Given the description of an element on the screen output the (x, y) to click on. 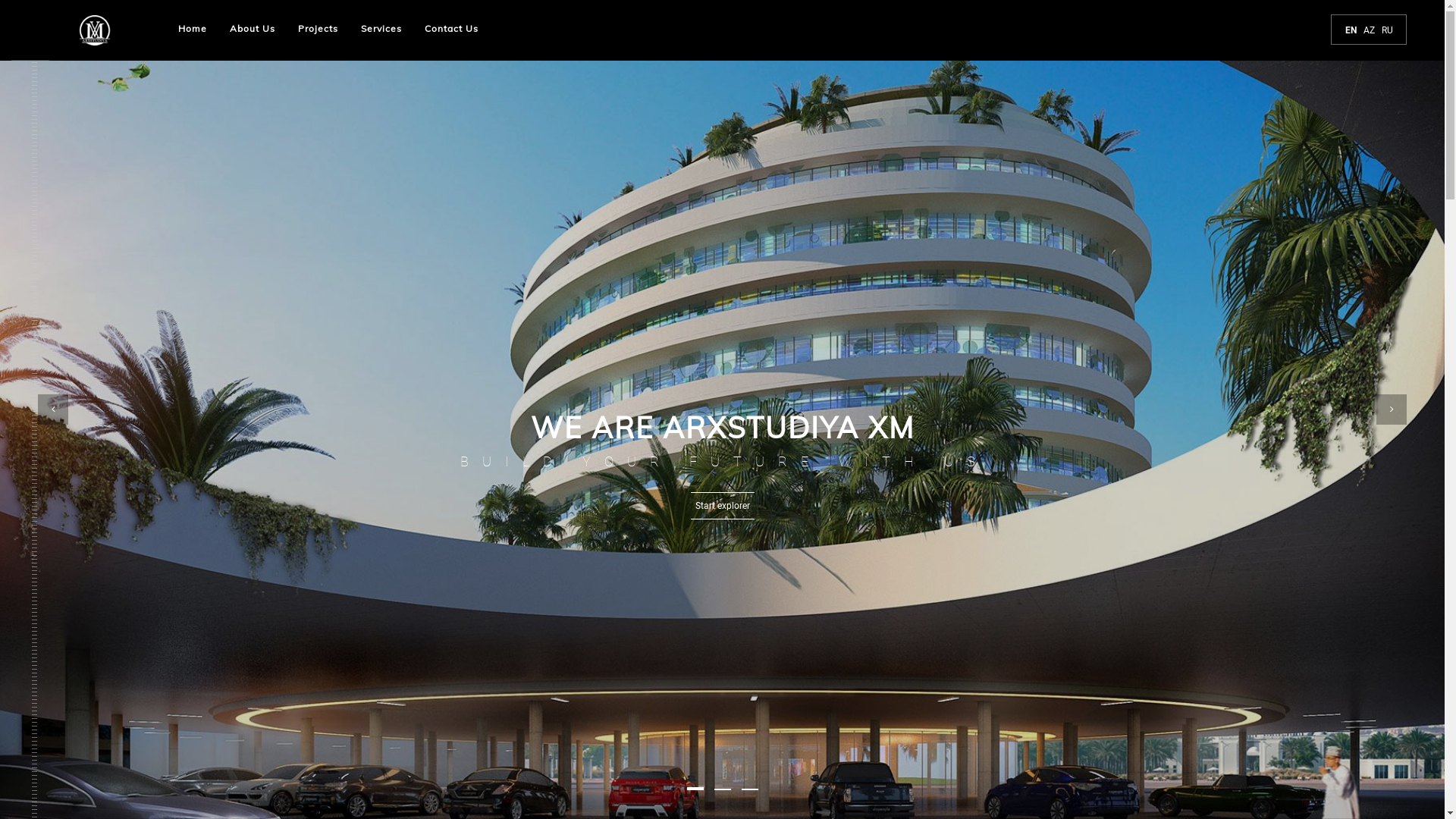
Start explorer Element type: text (721, 505)
RU Element type: text (1387, 30)
EN Element type: text (1350, 30)
Contact Us Element type: text (451, 28)
About Us Element type: text (252, 28)
AZ Element type: text (1368, 30)
Home Element type: text (192, 28)
Services Element type: text (381, 28)
Projects Element type: text (317, 28)
